Given the description of an element on the screen output the (x, y) to click on. 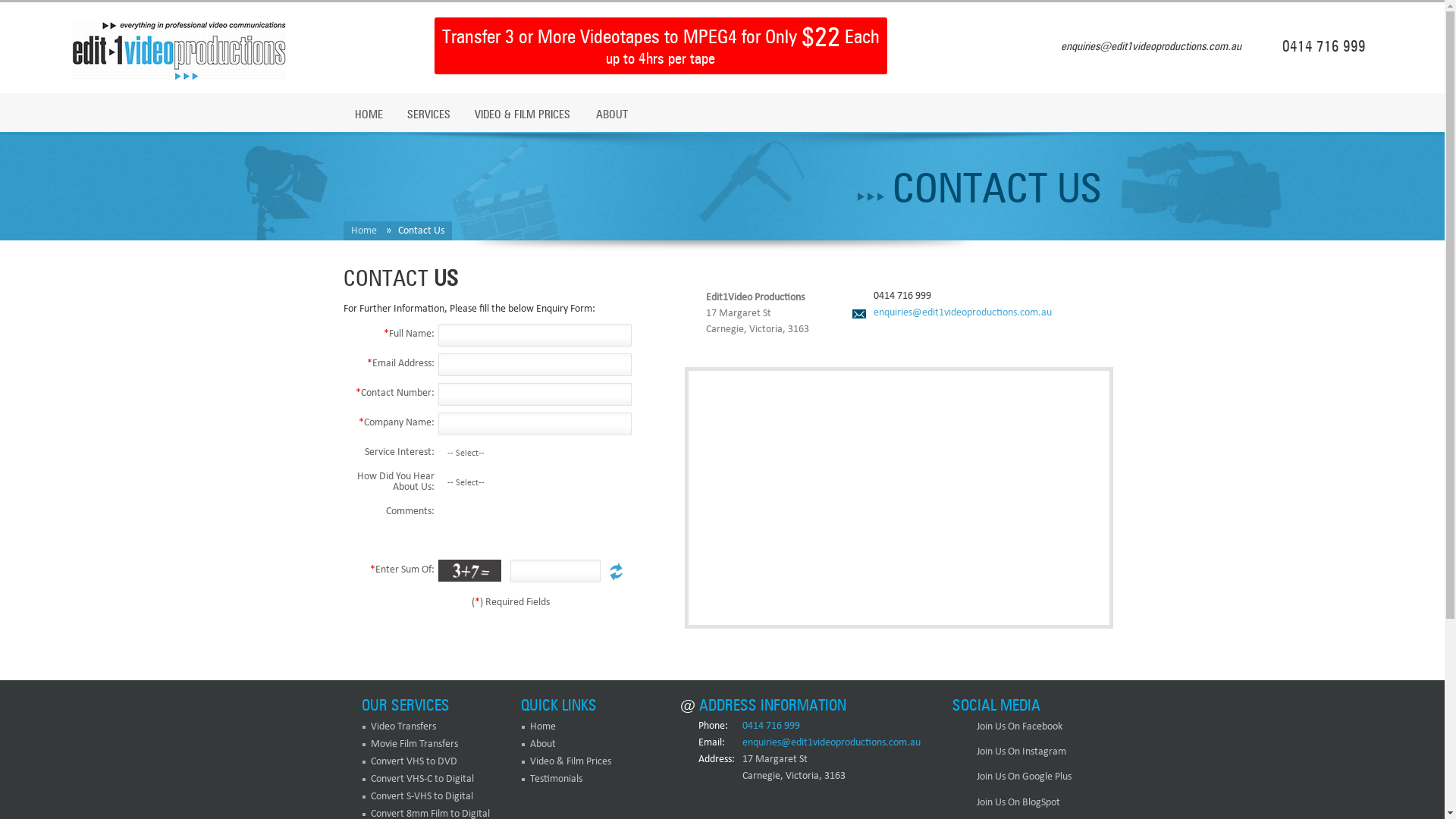
0414 716 999 Element type: text (1323, 46)
Home Element type: text (363, 230)
About Element type: text (542, 743)
Join Us On Instagram Element type: text (1008, 754)
VIDEO & FILM PRICES Element type: text (521, 113)
Join Us On Facebook Element type: text (1006, 729)
enquiries@edit1videoproductions.com.au Element type: text (1150, 46)
Convert VHS to DVD Element type: text (413, 761)
Video & Film Prices Element type: text (569, 761)
enquiries@edit1videoproductions.com.au Element type: text (830, 742)
ABOUT Element type: text (610, 113)
Submit Element type: hover (594, 602)
Join Us On Google Plus Element type: text (1011, 779)
Video Transfers Element type: text (402, 726)
Edit 1 Video Productions Element type: hover (178, 50)
Join Us On BlogSpot Element type: text (1005, 804)
0414 716 999 Element type: text (770, 725)
Home Element type: text (542, 726)
enquiries@edit1videoproductions.com.au Element type: text (951, 309)
Refresh Element type: hover (615, 571)
HOME Element type: text (367, 113)
SERVICES Element type: text (428, 113)
Testimonials Element type: text (555, 778)
Convert S-VHS to Digital Element type: text (421, 796)
0414 716 999 Element type: text (902, 295)
Movie Film Transfers Element type: text (413, 743)
Convert VHS-C to Digital Element type: text (421, 778)
